Given the description of an element on the screen output the (x, y) to click on. 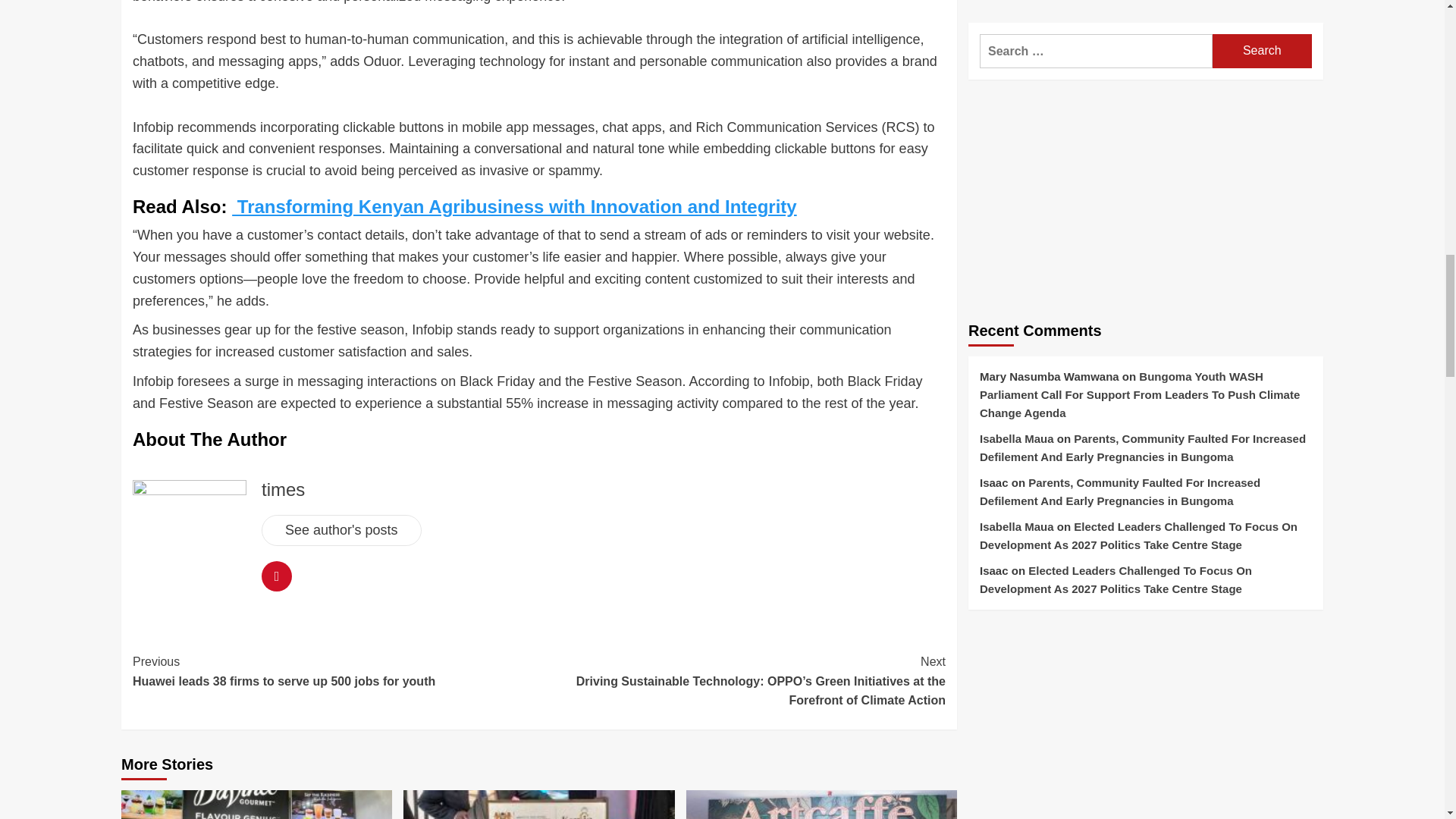
See author's posts (342, 530)
times (283, 489)
